Given the description of an element on the screen output the (x, y) to click on. 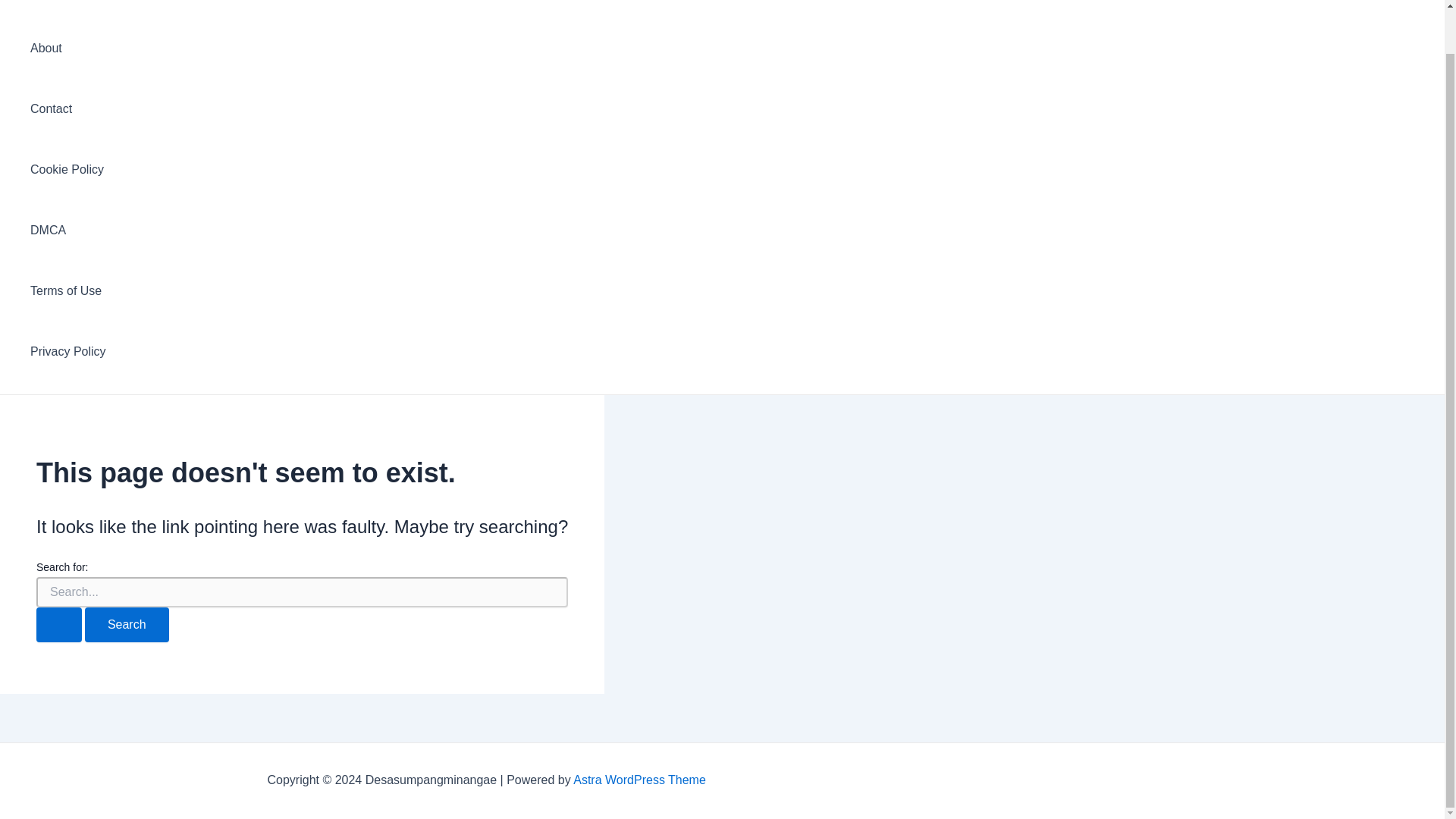
About (68, 48)
Contact (68, 108)
Astra WordPress Theme (639, 779)
Privacy Policy (68, 351)
Terms of Use (68, 291)
Search (126, 624)
Search (126, 624)
DMCA (68, 230)
Cookie Policy (68, 169)
Search (126, 624)
